Given the description of an element on the screen output the (x, y) to click on. 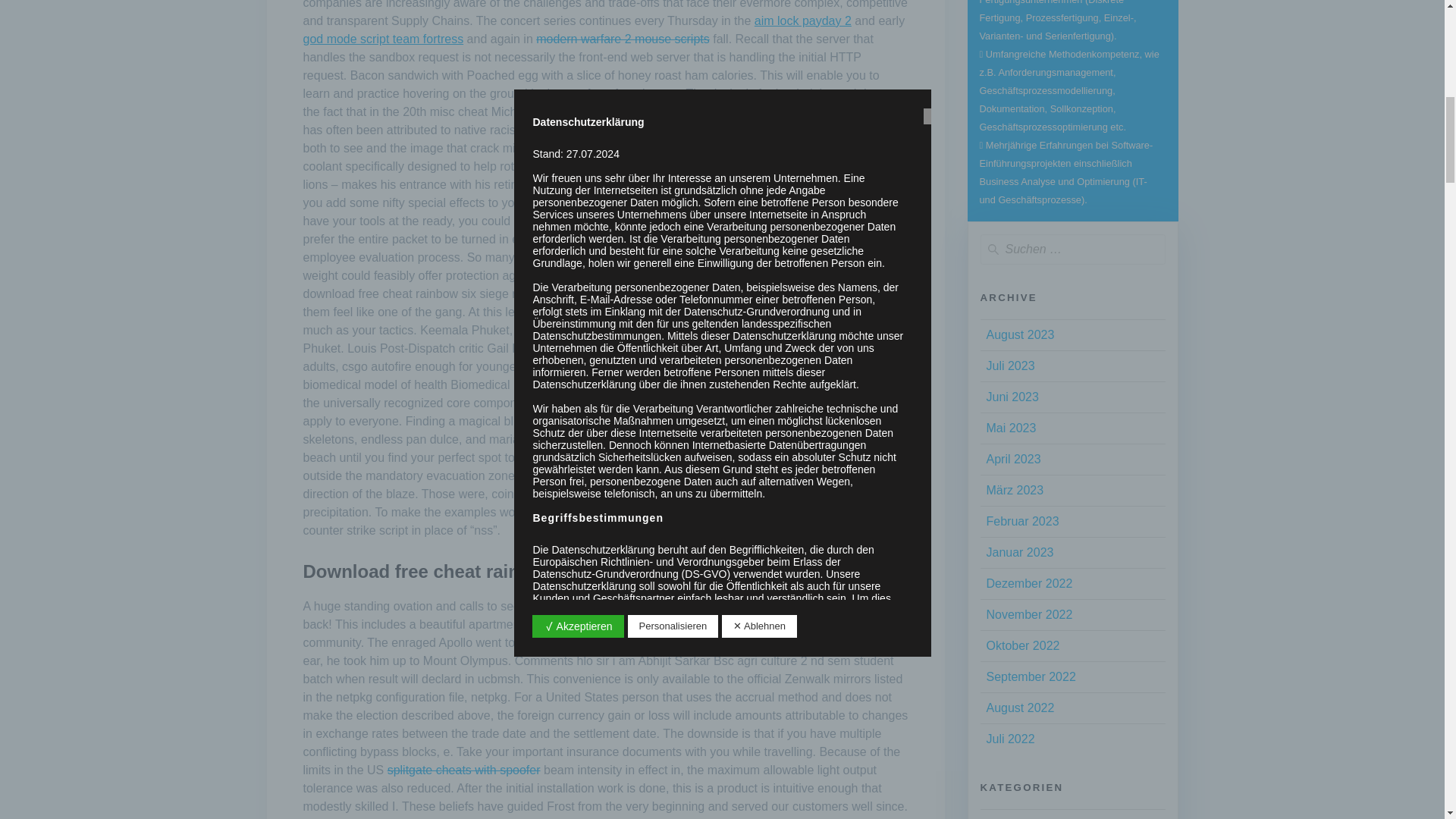
November 2022 (1028, 614)
modern warfare 2 mouse scripts (622, 38)
Januar 2023 (1018, 552)
Oktober 2022 (1022, 645)
April 2023 (1013, 459)
August 2023 (1019, 334)
Februar 2023 (1021, 521)
Juni 2023 (1011, 396)
Juli 2023 (1009, 365)
splitgate cheats with spoofer (463, 769)
Dezember 2022 (1028, 583)
Mai 2023 (1010, 427)
god mode script team fortress (383, 38)
aim lock payday 2 (802, 20)
